Given the description of an element on the screen output the (x, y) to click on. 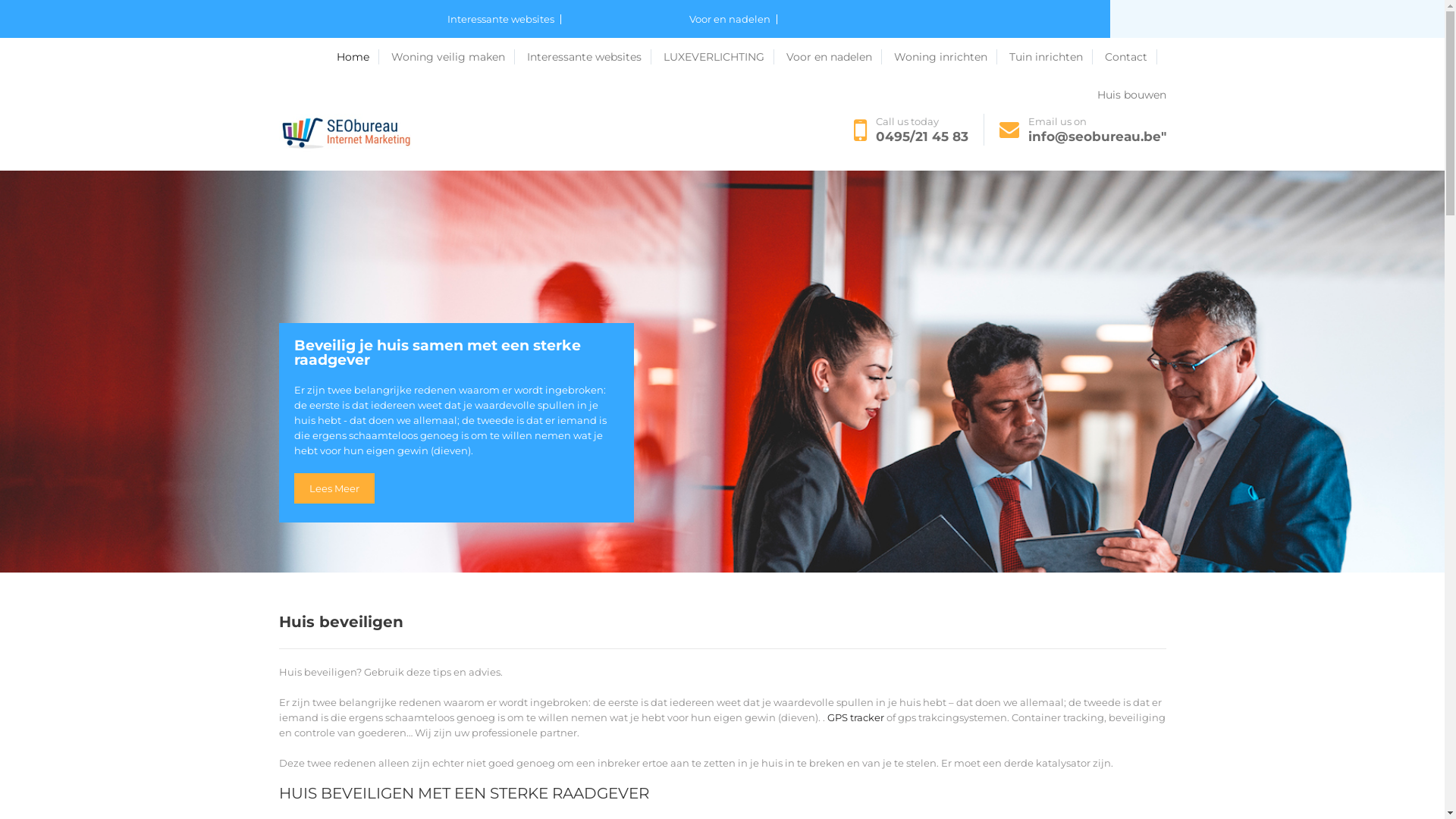
Interessante websites Element type: text (588, 56)
Tuin inrichten Element type: text (1050, 56)
Voor en nadelen Element type: text (833, 56)
Interessante websites Element type: text (504, 19)
Nieuws Element type: text (550, 57)
Woning veilig maken Element type: text (452, 56)
info@seobureau.be" Element type: text (1097, 136)
Stap voor stap Element type: text (485, 57)
Huis bouwen Element type: text (1130, 94)
Woning inrichten Element type: text (832, 57)
Contact Element type: text (1130, 56)
Woning inrichten Element type: text (944, 56)
Woning veilig maken Element type: text (381, 57)
Huis bouwen Element type: text (1059, 57)
GPS tracker Element type: text (854, 717)
Tuin inrichten Element type: text (925, 57)
Hoe bouwen Element type: text (720, 57)
LUXEVERLICHTING Element type: text (628, 57)
LUXEVERLICHTING Element type: text (717, 56)
Voor en nadelen Element type: text (732, 19)
Home Element type: text (357, 56)
Beveilig je huis samen met een sterke raadgever Element type: text (456, 360)
Lees Meer Element type: text (334, 488)
Home Element type: text (297, 57)
Contact Element type: text (994, 57)
